Given the description of an element on the screen output the (x, y) to click on. 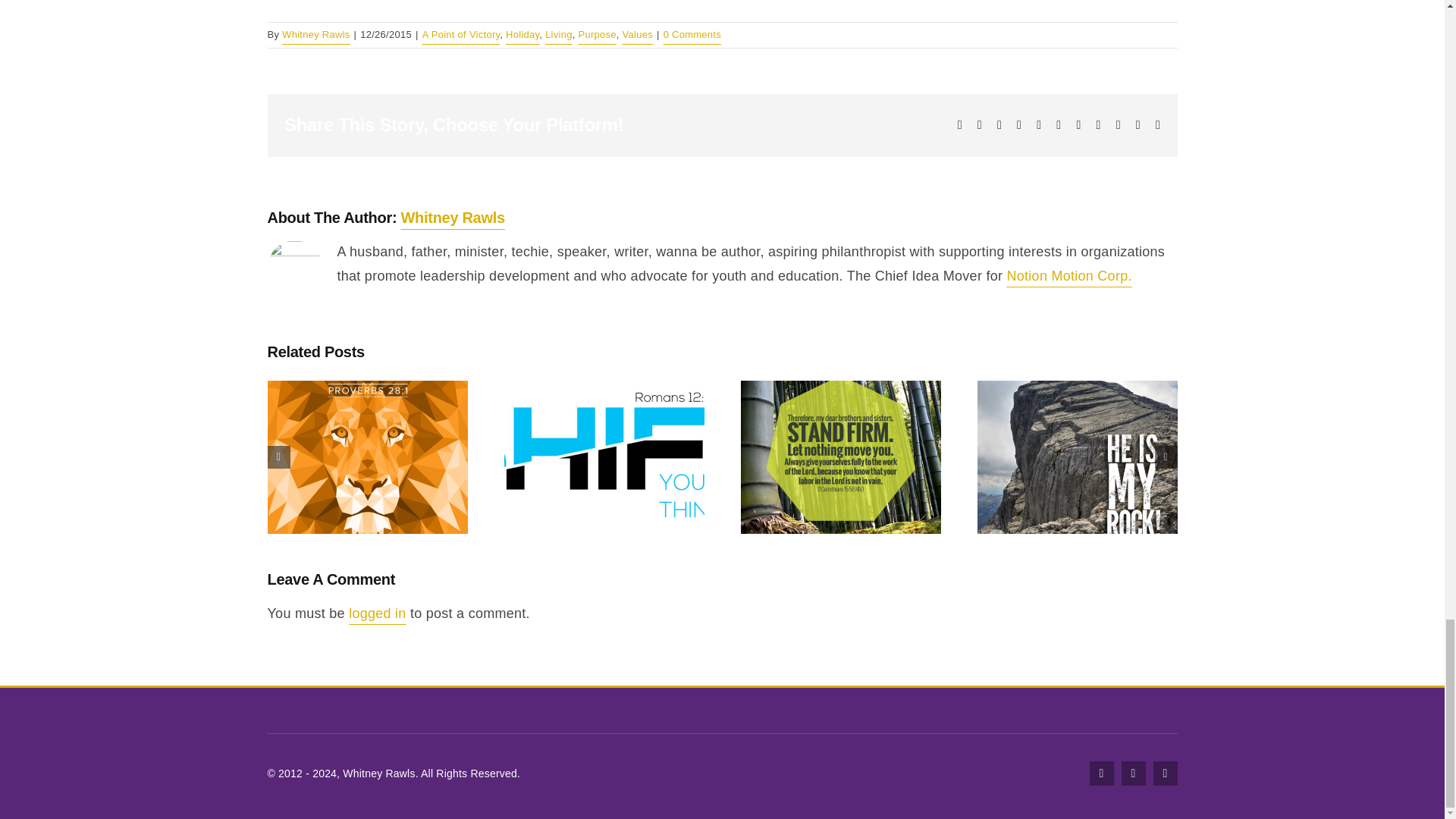
Whitney Rawls (315, 34)
0 Comments (691, 34)
Living (558, 34)
Values (637, 34)
Whitney Rawls (453, 217)
Holiday (521, 34)
Purpose (596, 34)
Notion Motion Corp. (1069, 275)
Posts by Whitney Rawls (315, 34)
A Point of Victory (461, 34)
